Given the description of an element on the screen output the (x, y) to click on. 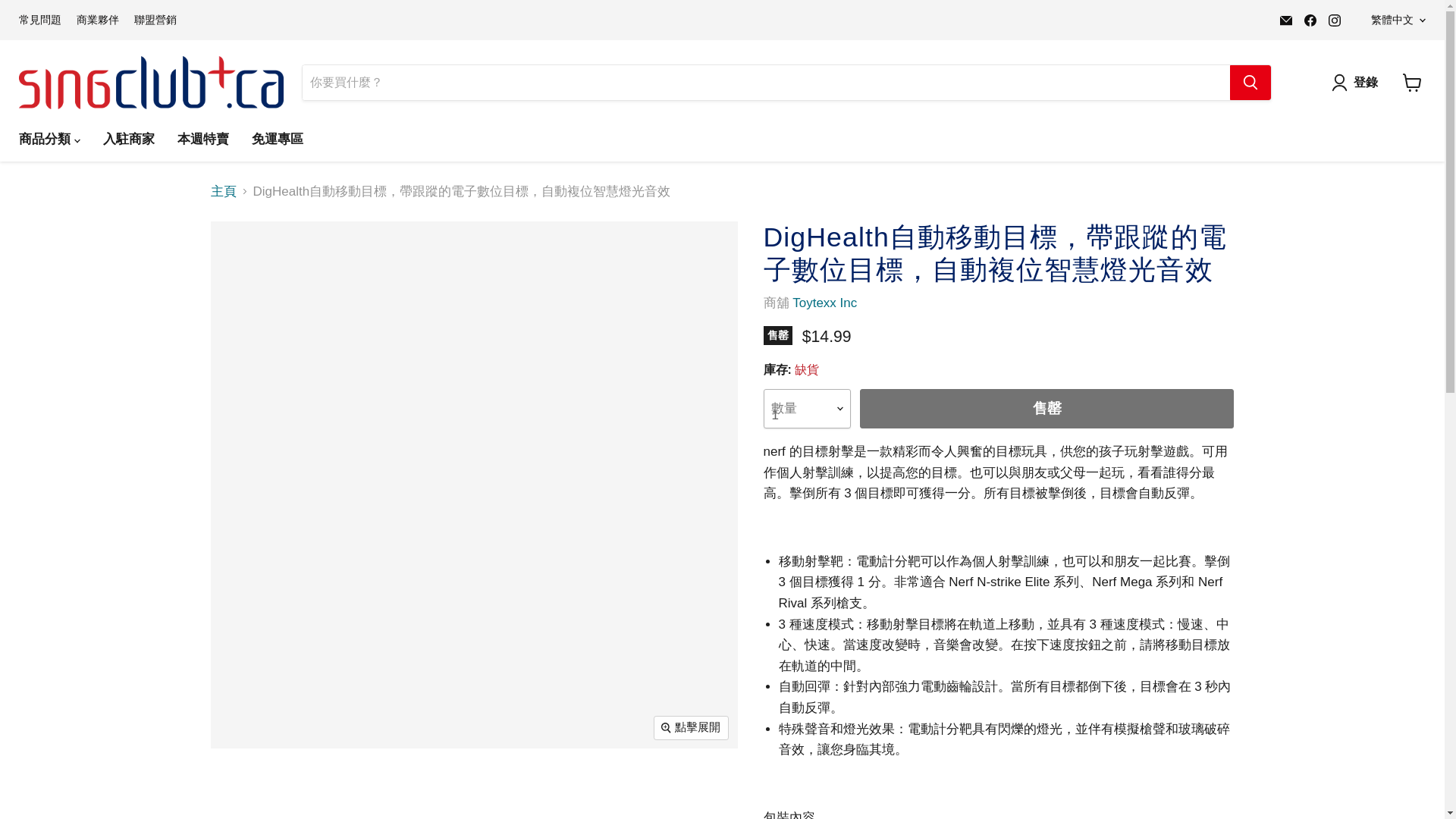
Facebook (1310, 19)
Instagram (1334, 19)
Toytexx Inc (824, 302)
